Given the description of an element on the screen output the (x, y) to click on. 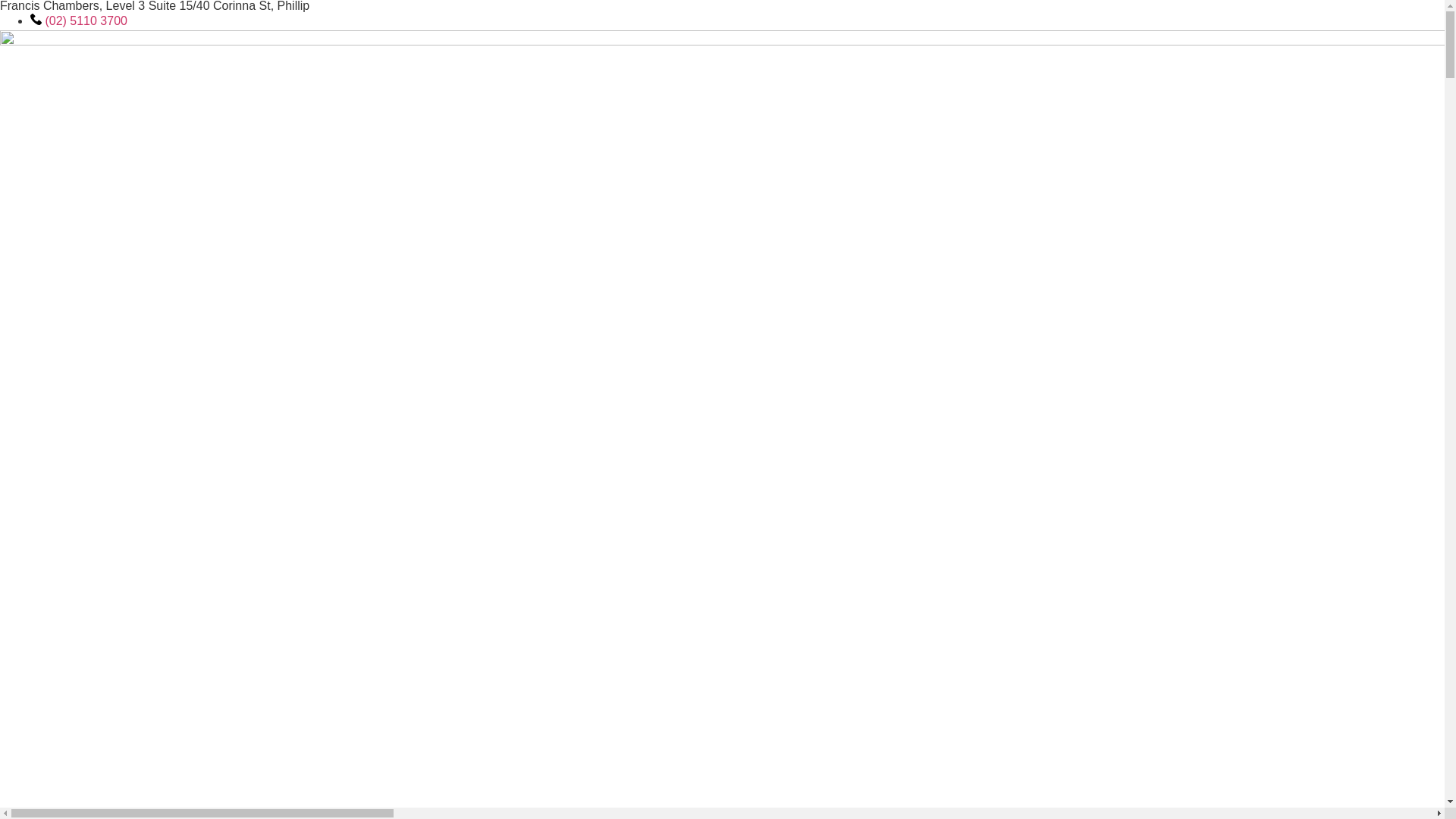
(02) 5110 3700 Element type: text (78, 20)
